Given the description of an element on the screen output the (x, y) to click on. 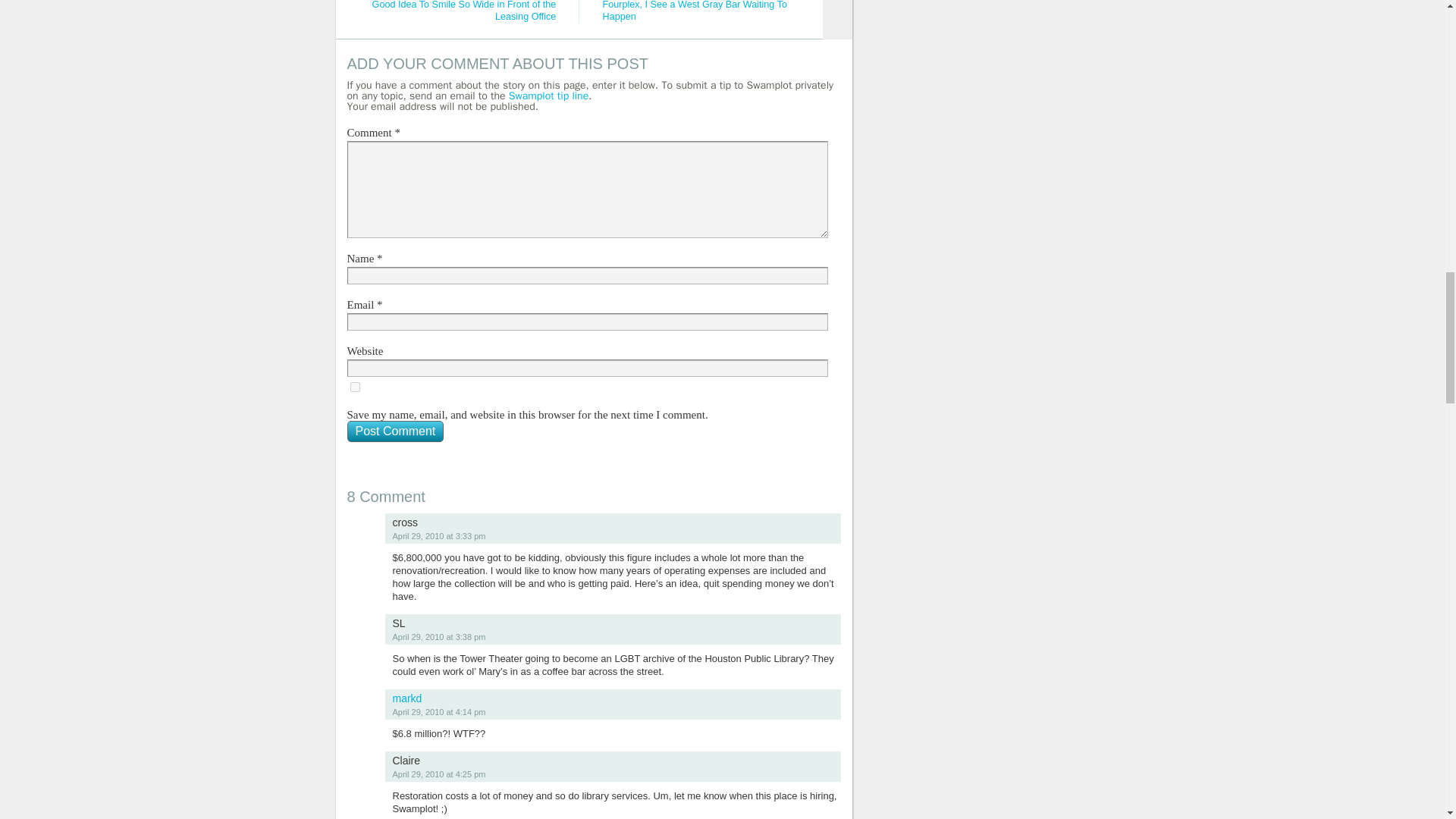
yes (354, 387)
Post Comment (395, 431)
